Given the description of an element on the screen output the (x, y) to click on. 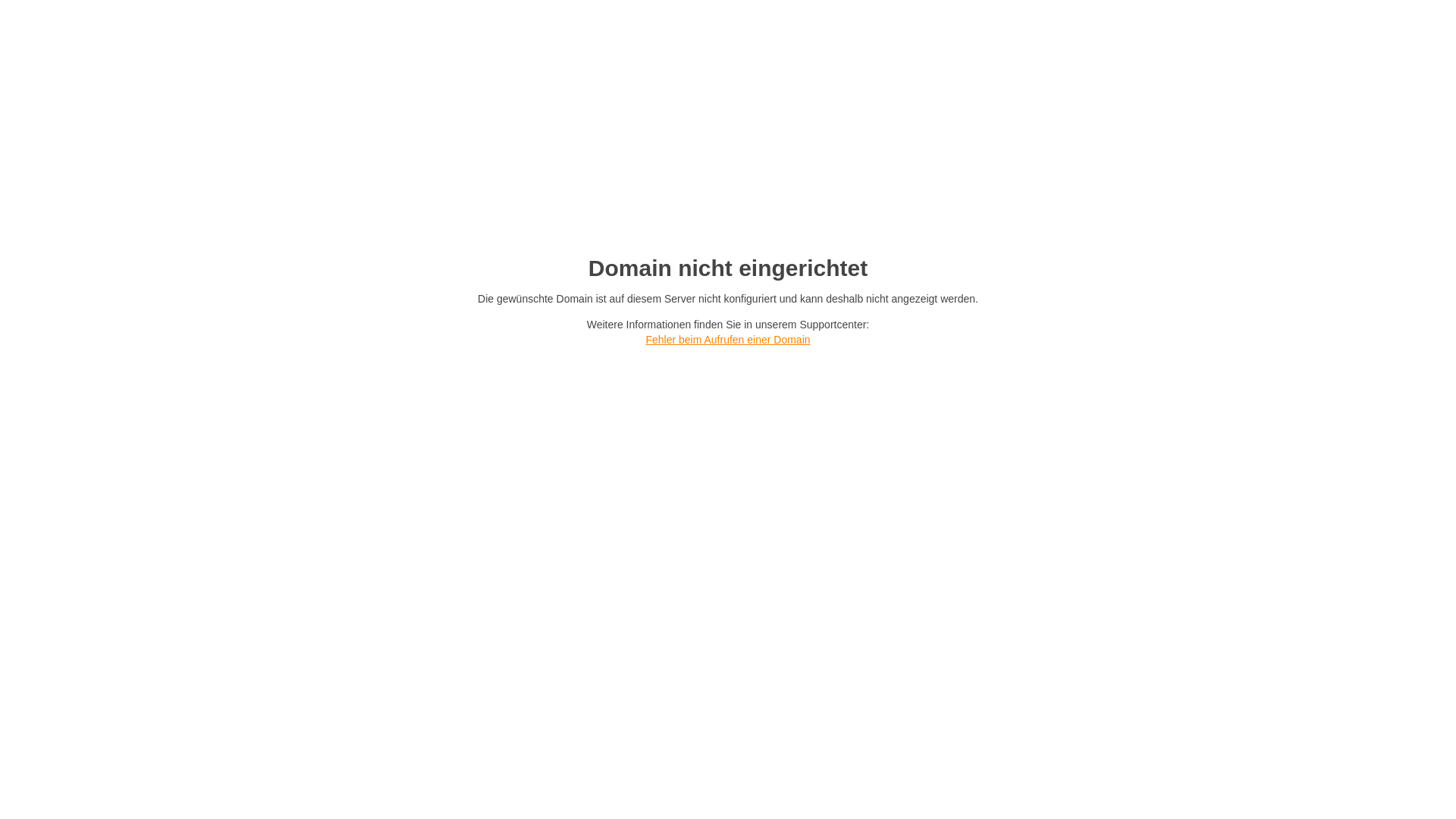
Fehler beim Aufrufen einer Domain Element type: text (727, 339)
